Given the description of an element on the screen output the (x, y) to click on. 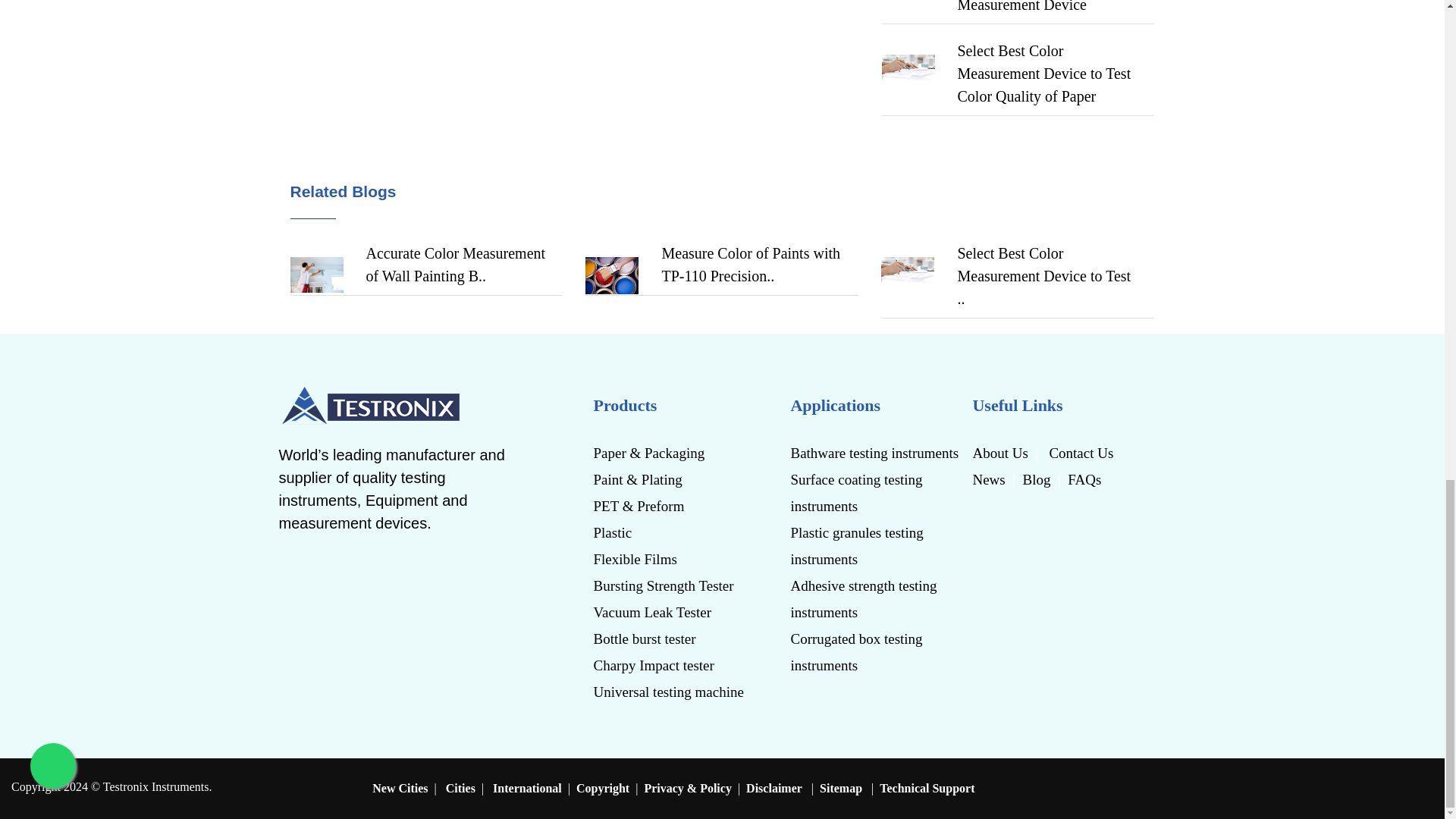
Applications (875, 405)
Bathware testing instruments (875, 452)
Charpy Impact tester (673, 664)
Universal testing machine (673, 691)
Bursting Strength Tester (673, 585)
Vacuum Leak Tester (673, 611)
Plastic (673, 532)
Accurate Color Measurement of Wall Painting B.. (454, 264)
Flexible Films (673, 559)
Measure Color of Paints with TP-110 Precision.. (750, 264)
Select Best Color Measurement Device to Test .. (1043, 275)
Bottle burst tester (673, 638)
